Given the description of an element on the screen output the (x, y) to click on. 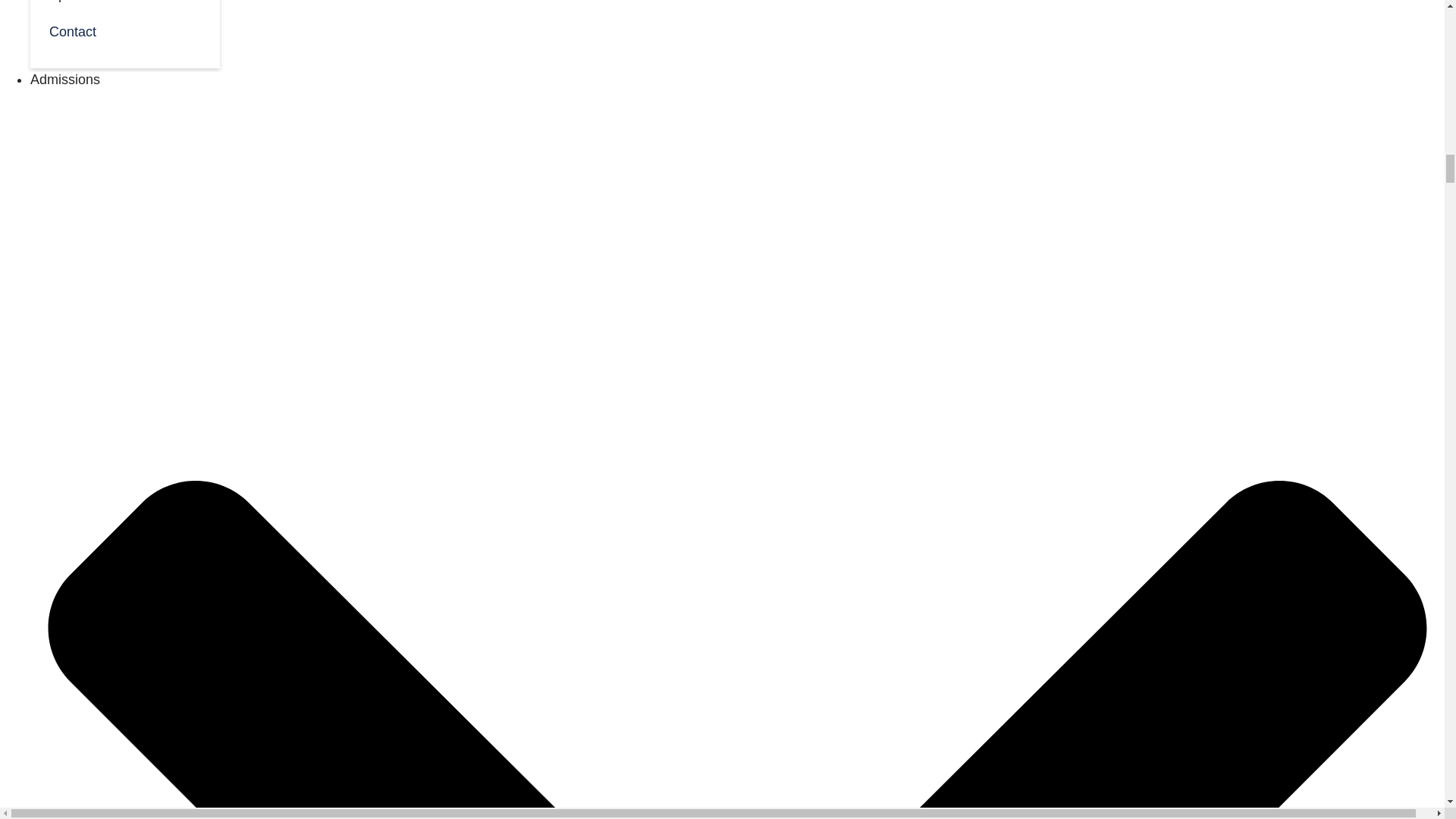
Admissions (65, 79)
Contact (125, 30)
Special Events (125, 6)
